Given the description of an element on the screen output the (x, y) to click on. 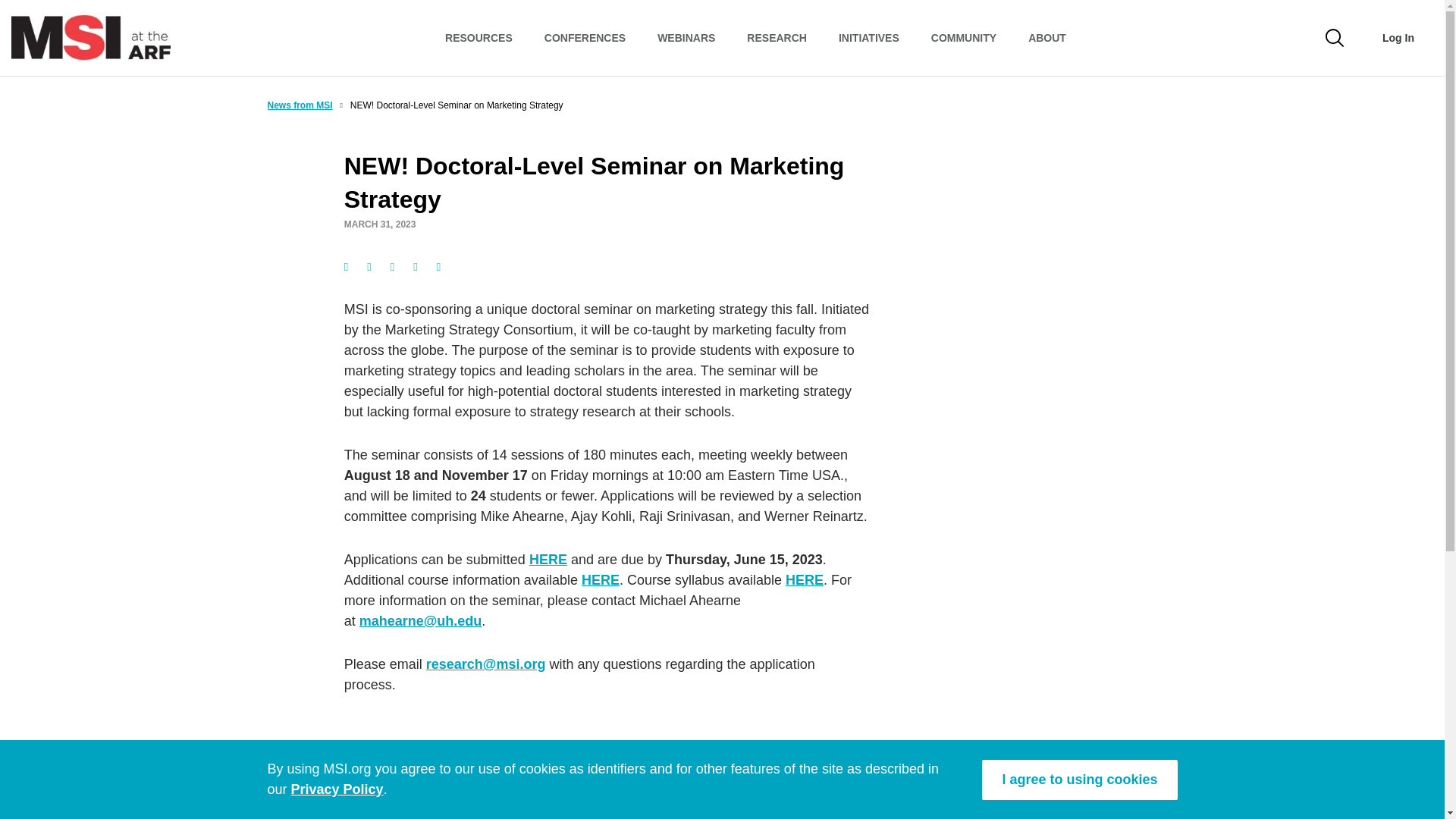
HERE (600, 580)
WEBINARS (686, 37)
CONFERENCES (585, 37)
HERE (548, 559)
HERE (805, 580)
News from MSI (298, 105)
COMMUNITY (963, 37)
INITIATIVES (868, 37)
Contact Us (978, 814)
RESOURCES (478, 37)
ABOUT (1046, 37)
RESEARCH (776, 37)
